Given the description of an element on the screen output the (x, y) to click on. 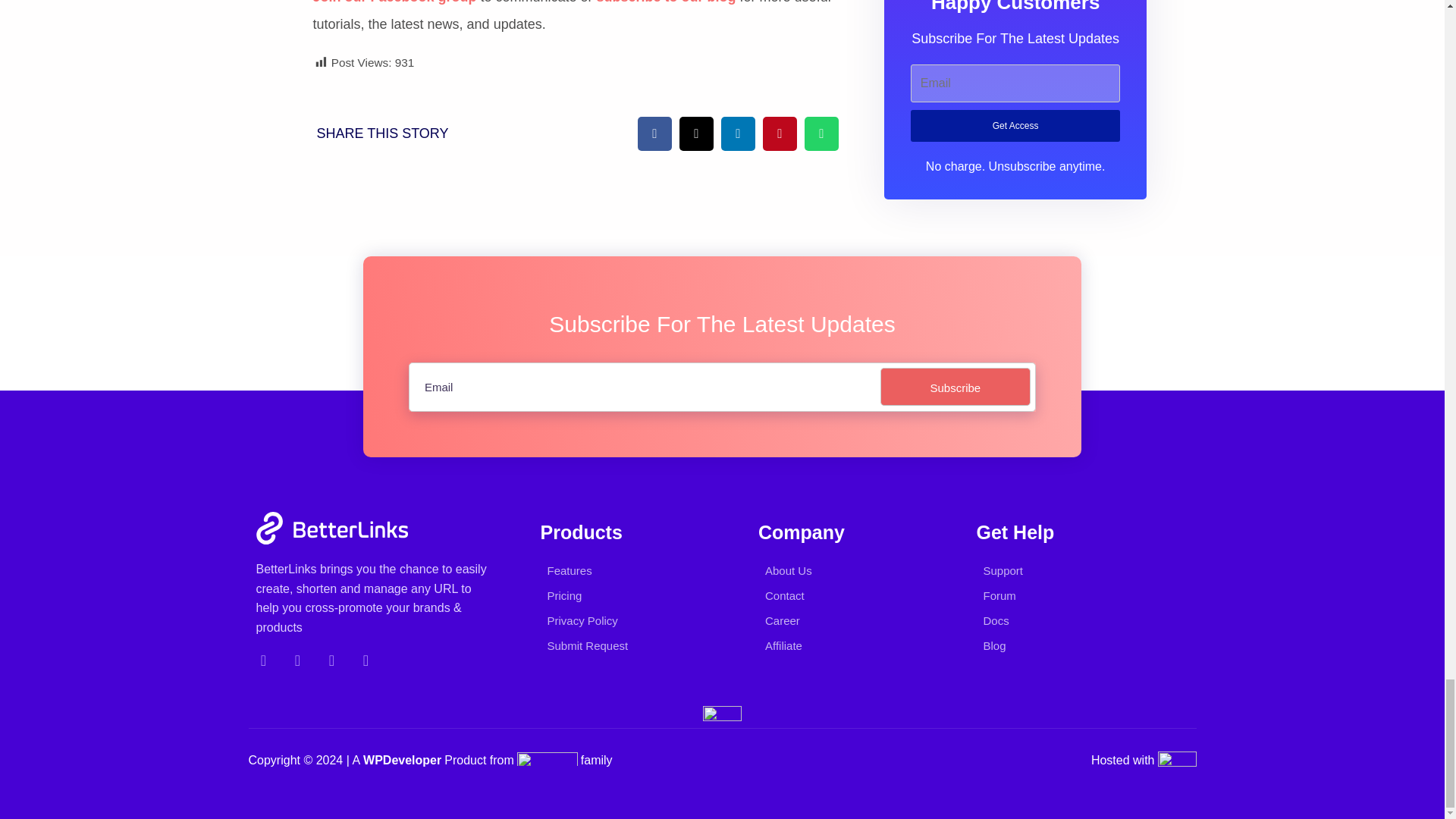
Join our Facebook group (394, 2)
subscribe to our blog (666, 2)
Subscribe (955, 386)
